Given the description of an element on the screen output the (x, y) to click on. 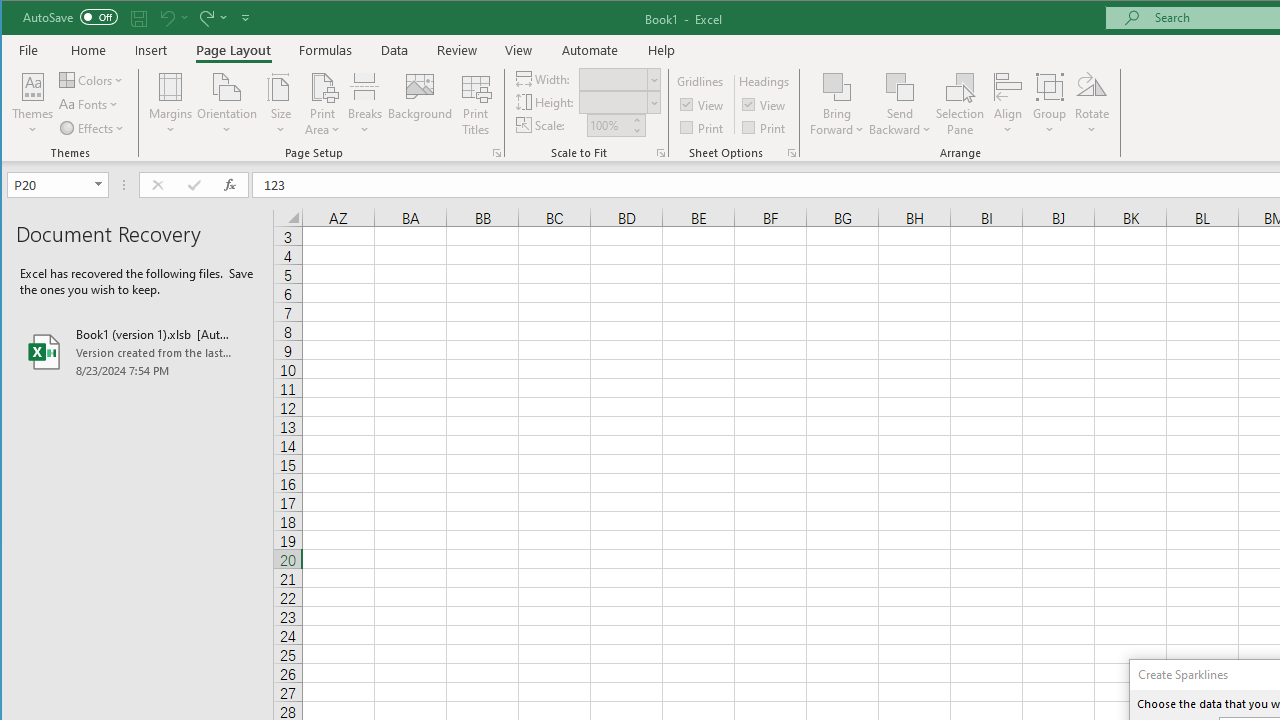
Less (636, 130)
Scale (607, 125)
Selection Pane... (960, 104)
Themes (33, 104)
Print Area (323, 104)
Print Titles (475, 104)
